Given the description of an element on the screen output the (x, y) to click on. 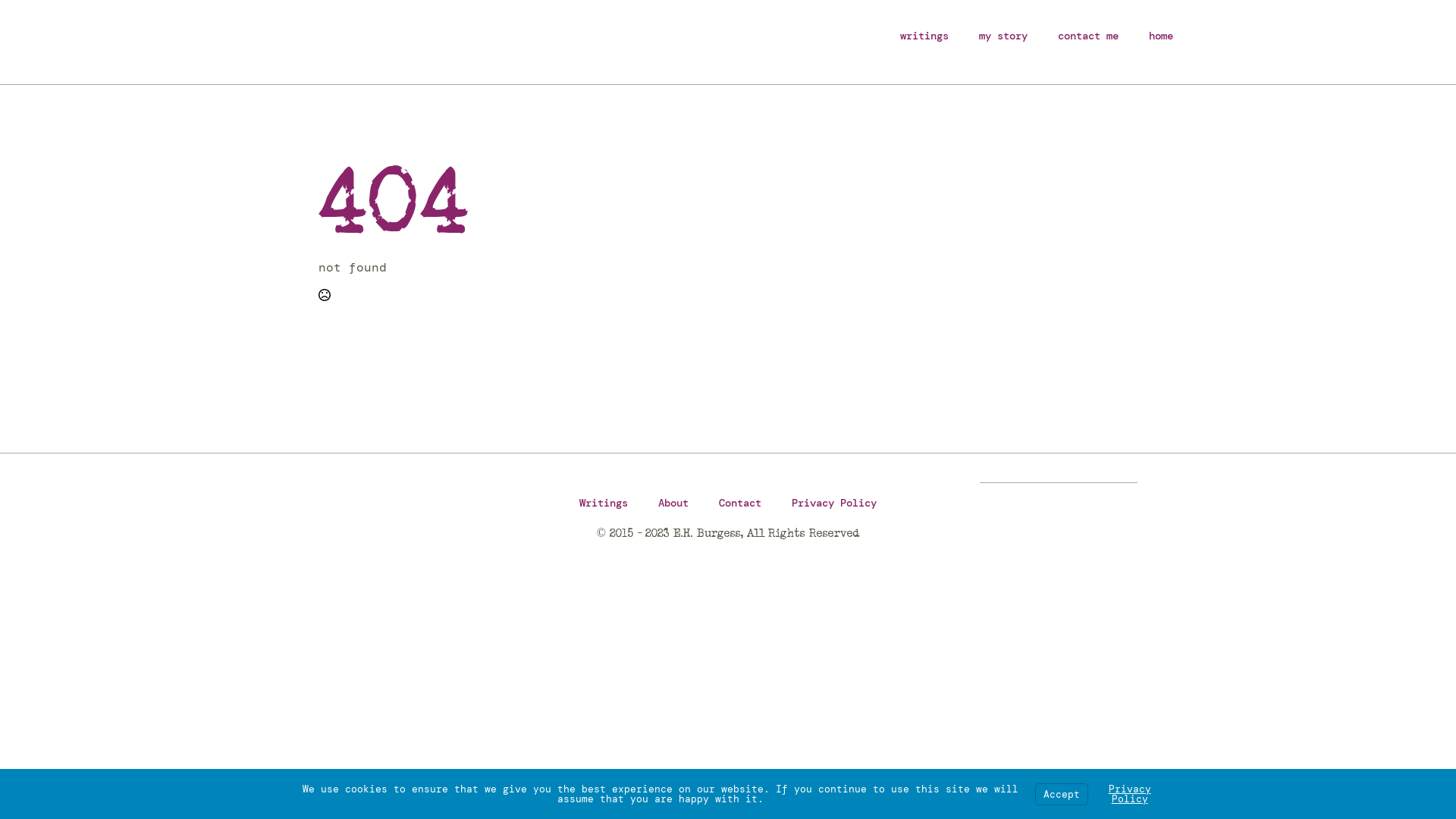
About Element type: text (673, 502)
home Element type: text (1160, 35)
my story Element type: text (1002, 35)
Writings Element type: text (603, 502)
writings Element type: text (923, 35)
contact me Element type: text (1087, 35)
Contact Element type: text (739, 502)
Privacy Policy Element type: text (833, 502)
Privacy Policy Element type: text (1129, 793)
Accept Element type: text (1061, 793)
